Given the description of an element on the screen output the (x, y) to click on. 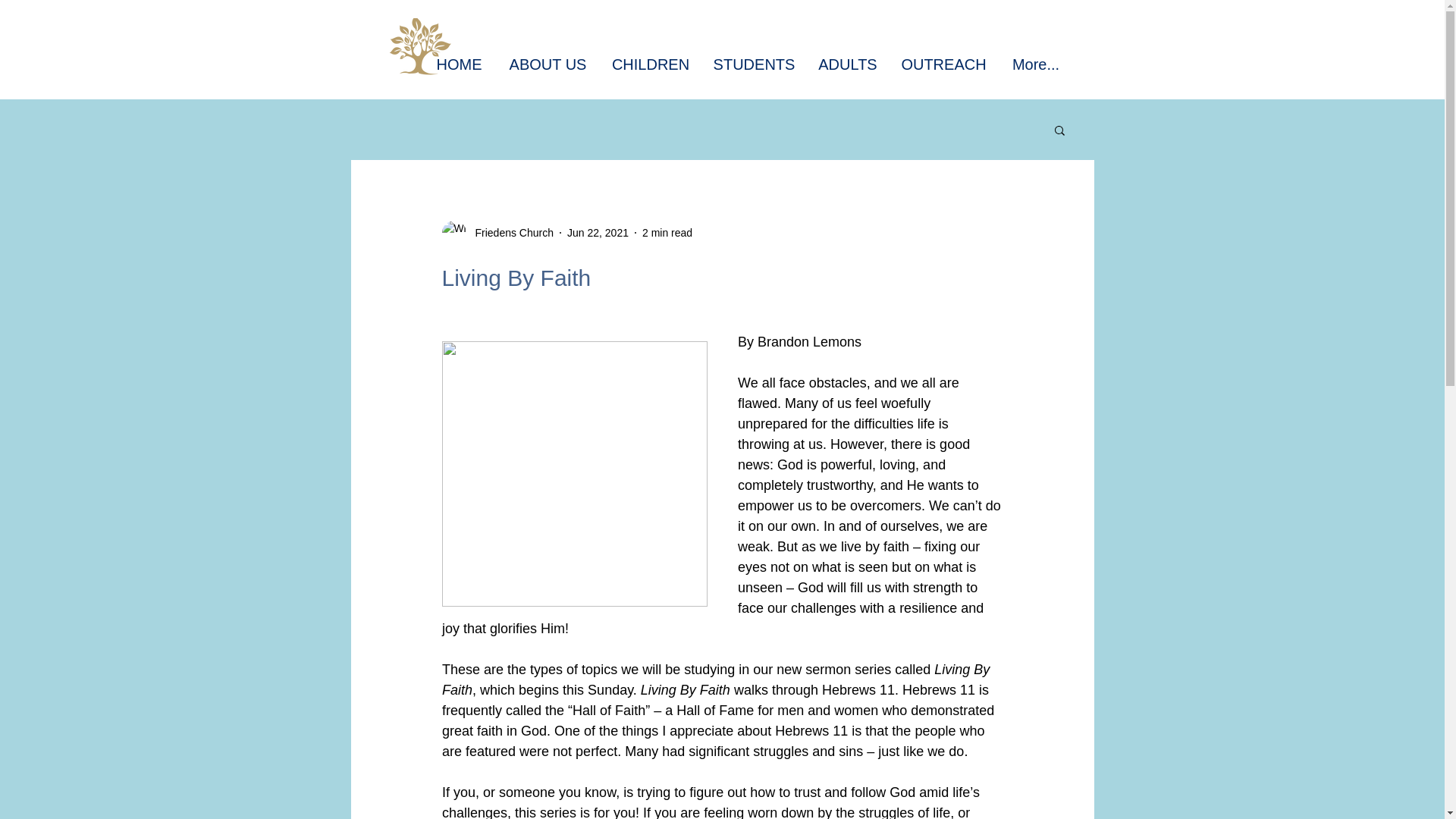
ADULTS (847, 64)
Friedens Church (497, 232)
CHILDREN (649, 64)
OUTREACH (942, 64)
Friedens Church (509, 232)
Jun 22, 2021 (597, 232)
HOME (459, 64)
STUDENTS (753, 64)
2 min read (667, 232)
